Given the description of an element on the screen output the (x, y) to click on. 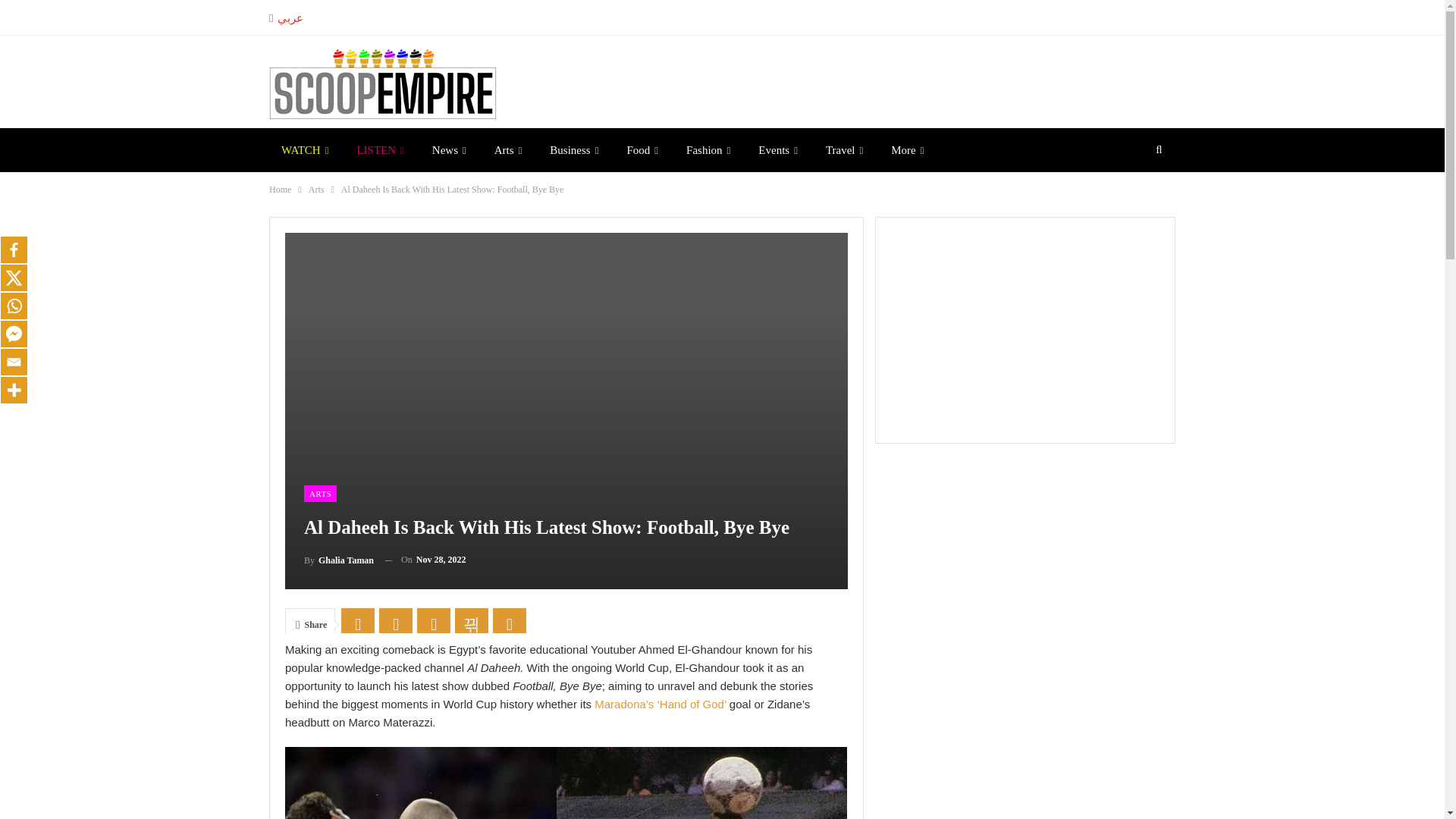
LISTEN (378, 149)
News (449, 149)
WATCH (304, 149)
Arts (507, 149)
Business (573, 149)
